Given the description of an element on the screen output the (x, y) to click on. 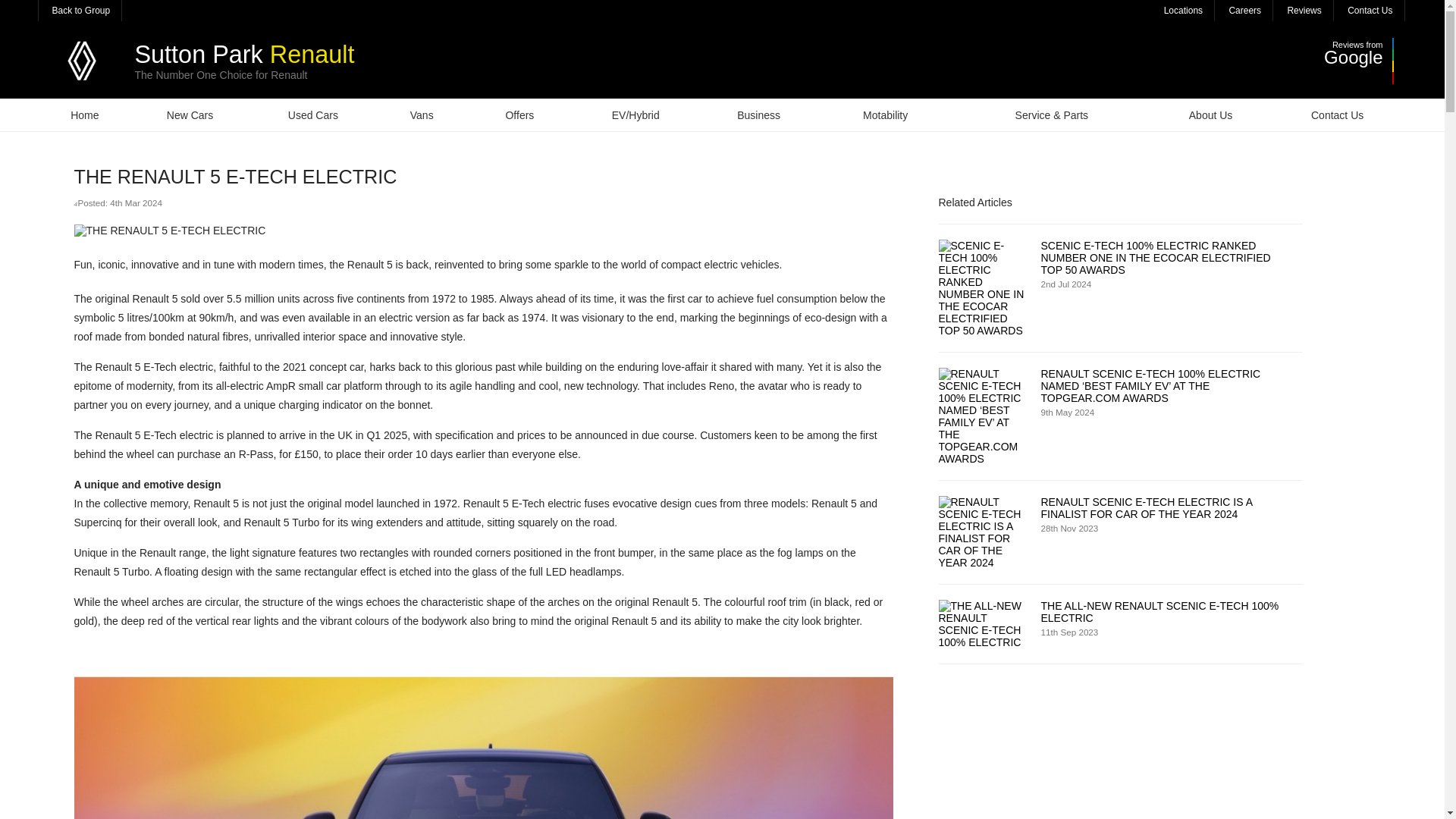
Careers (1243, 10)
Home (84, 114)
Reviews (1302, 10)
Used Cars (312, 114)
Locations (1182, 10)
Contact Us (1368, 10)
New Cars (189, 114)
Back to Group (78, 10)
